Given the description of an element on the screen output the (x, y) to click on. 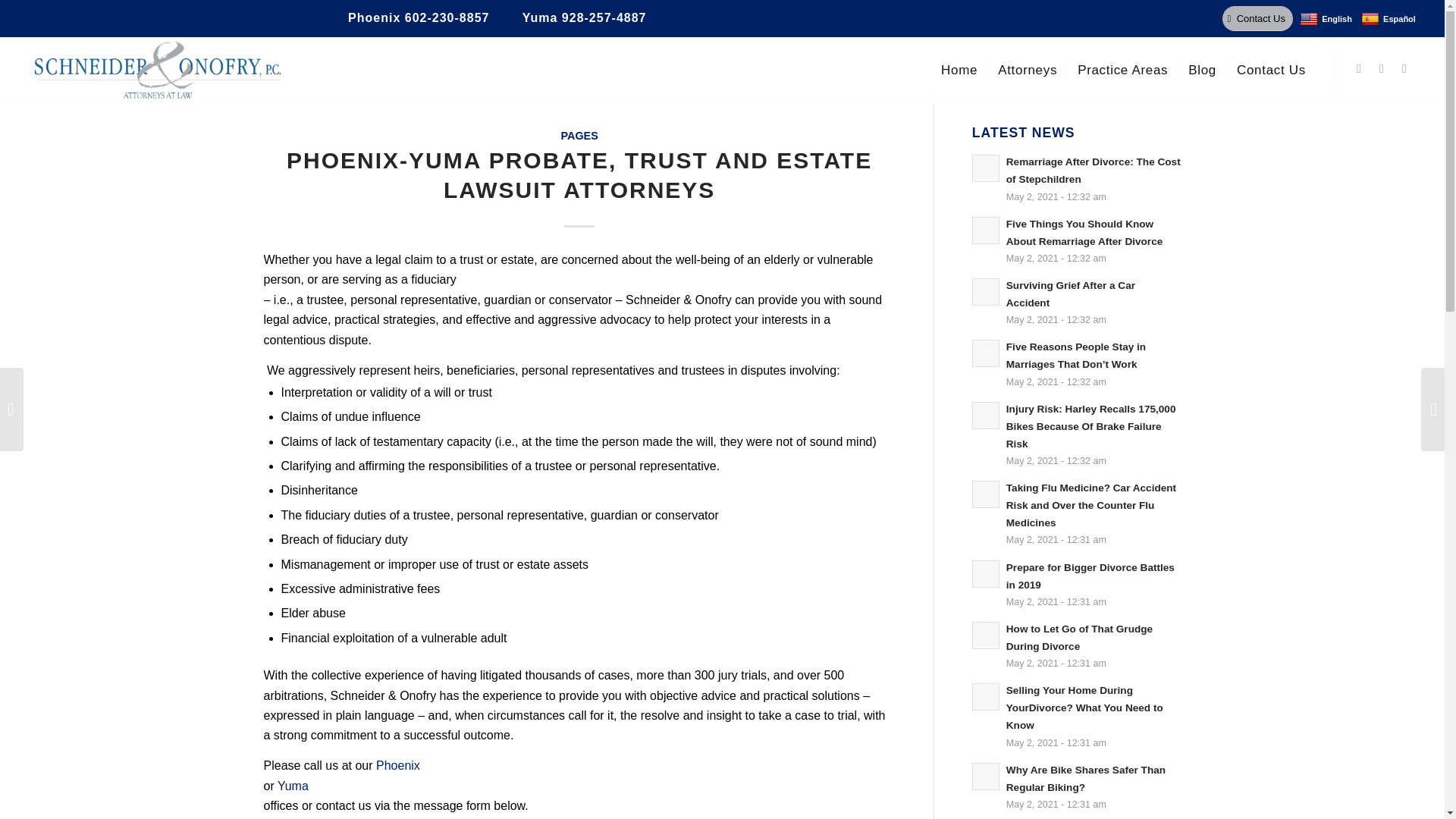
LinkedIn (1404, 68)
How to Let Go of That Grudge During Divorce (1076, 645)
Attorneys (1027, 69)
Five Things You Should Know About Remarriage After Divorce (1076, 240)
Contact Us (1257, 18)
Home (959, 69)
Twitter (1359, 68)
Selling Your Home During YourDivorce? What You Need to Know (1076, 715)
English (1326, 18)
Blog (1201, 69)
602-230-8857 (446, 17)
English (1326, 18)
Surviving Grief After a Car Accident (1076, 302)
